Given the description of an element on the screen output the (x, y) to click on. 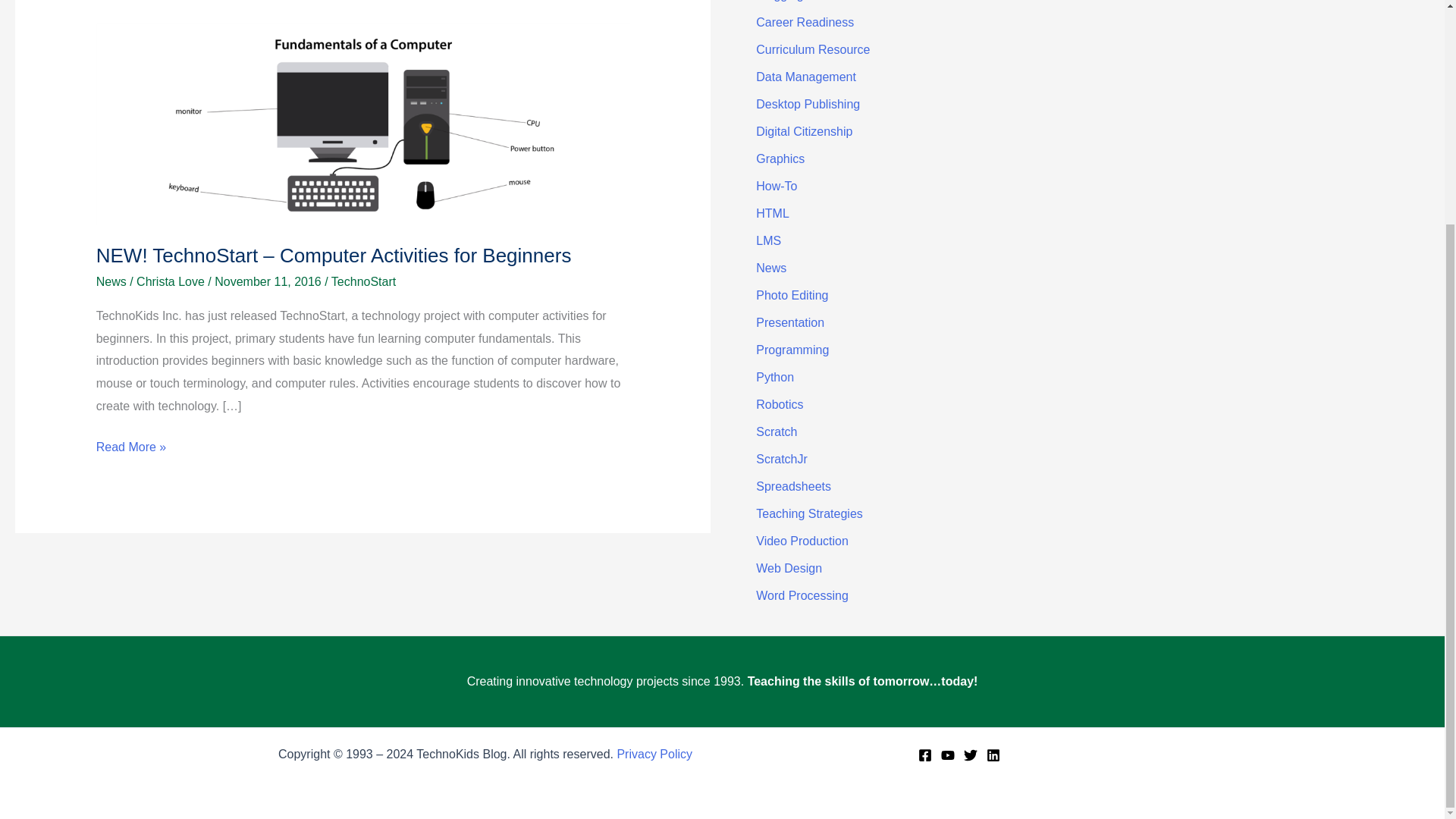
View all posts by Christa Love (172, 281)
